Given the description of an element on the screen output the (x, y) to click on. 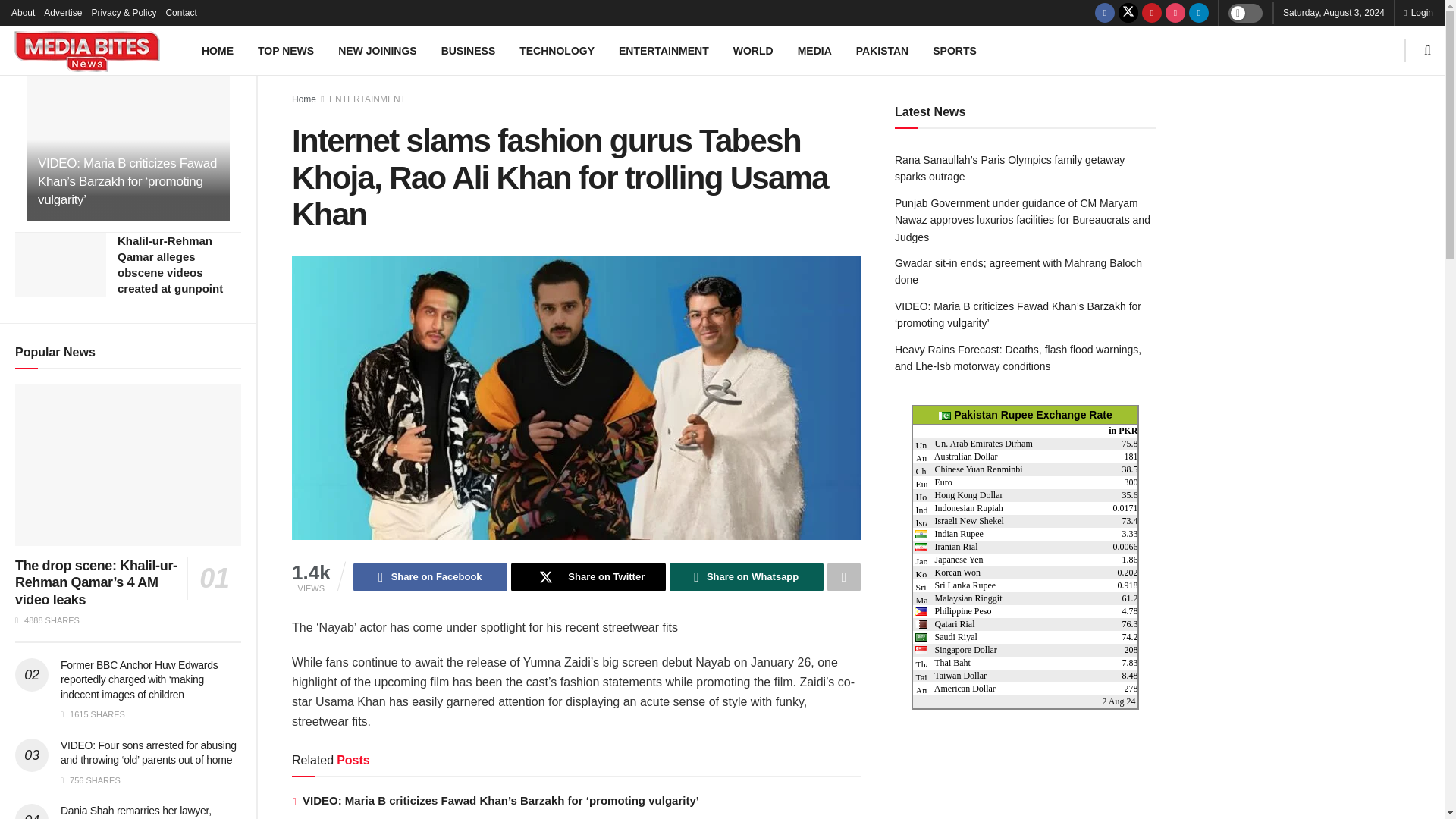
Dania Shah remarries her lawyer, Hakeem Shahzad Loha Paar (136, 811)
